Given the description of an element on the screen output the (x, y) to click on. 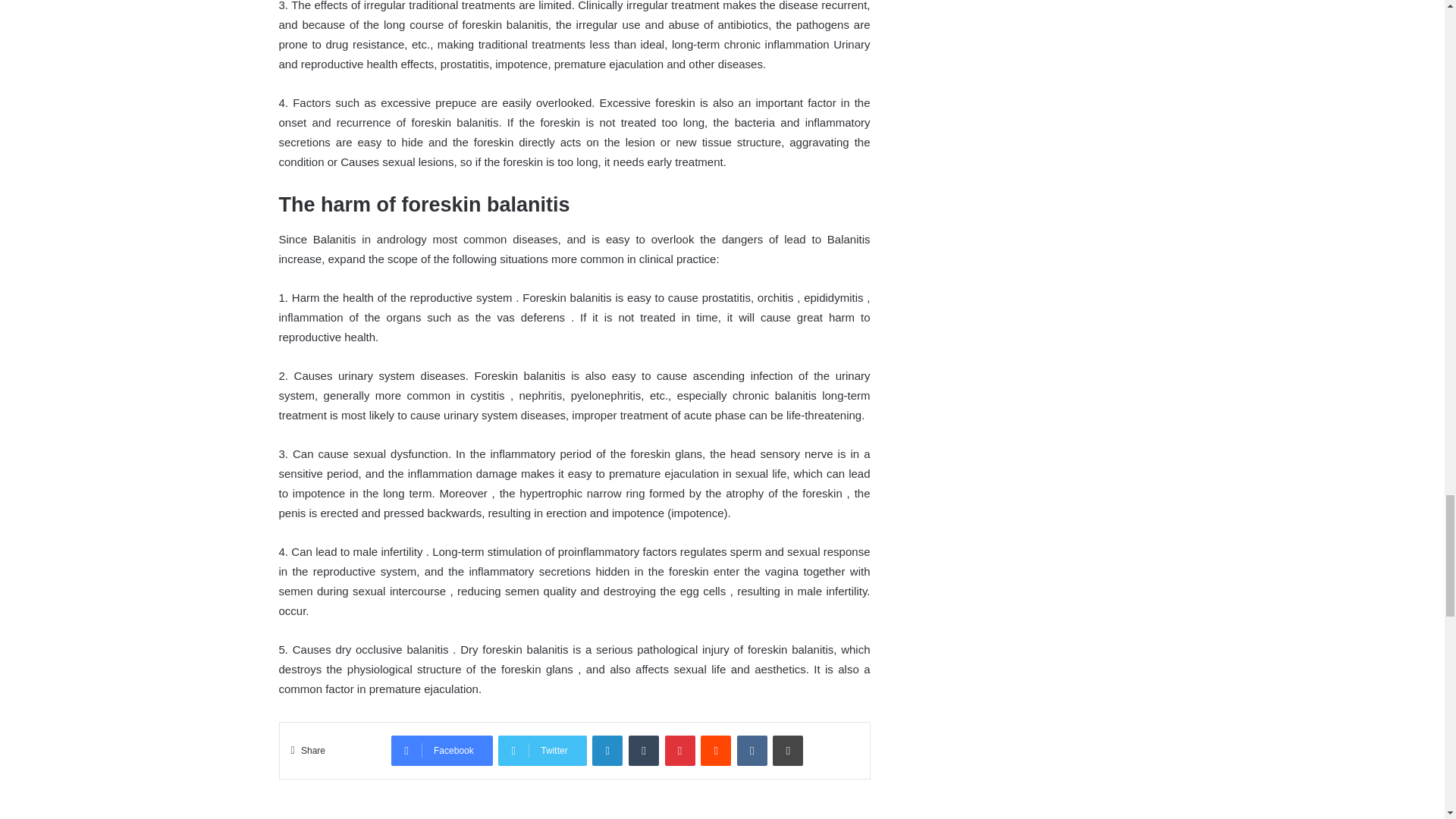
Twitter (541, 750)
VKontakte (751, 750)
Tumblr (643, 750)
Twitter (541, 750)
Reddit (715, 750)
VKontakte (751, 750)
Pinterest (680, 750)
LinkedIn (607, 750)
LinkedIn (607, 750)
Pinterest (680, 750)
